Given the description of an element on the screen output the (x, y) to click on. 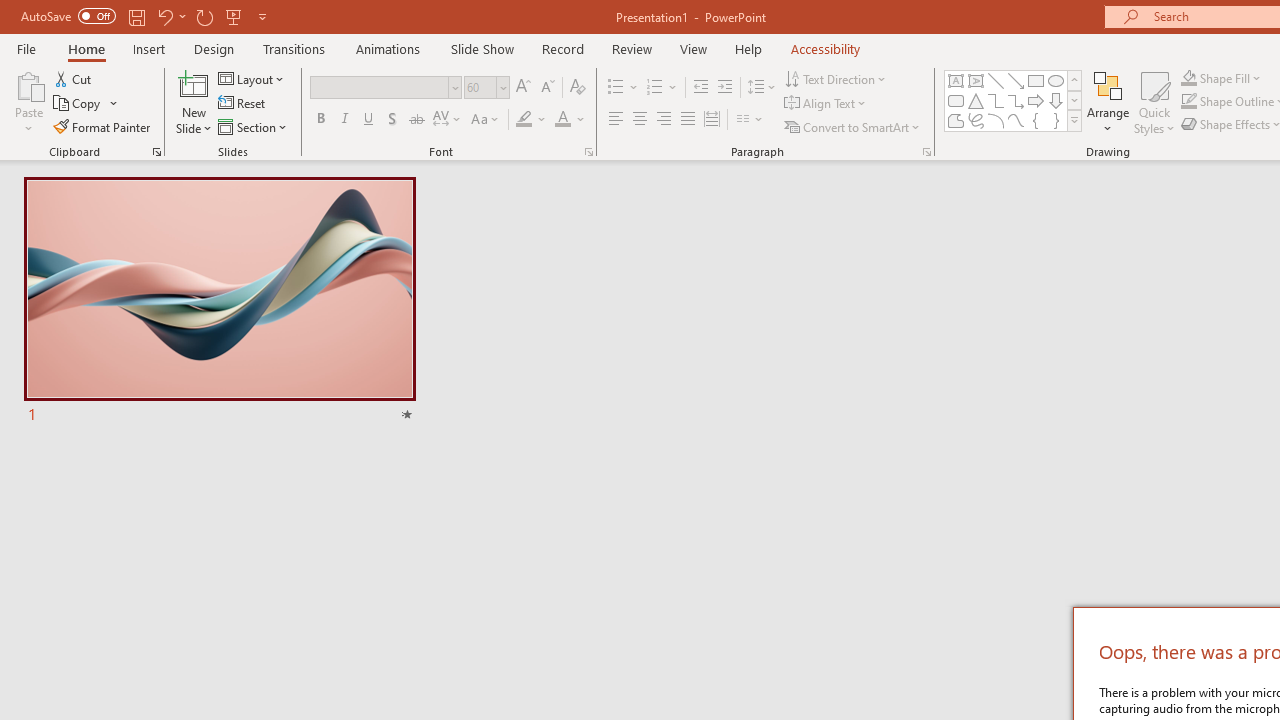
Freeform: Scribble (975, 120)
Format Painter (103, 126)
Decrease Indent (700, 87)
Curve (1016, 120)
Rectangle (1035, 80)
Oval (1055, 80)
Vertical Text Box (975, 80)
